Given the description of an element on the screen output the (x, y) to click on. 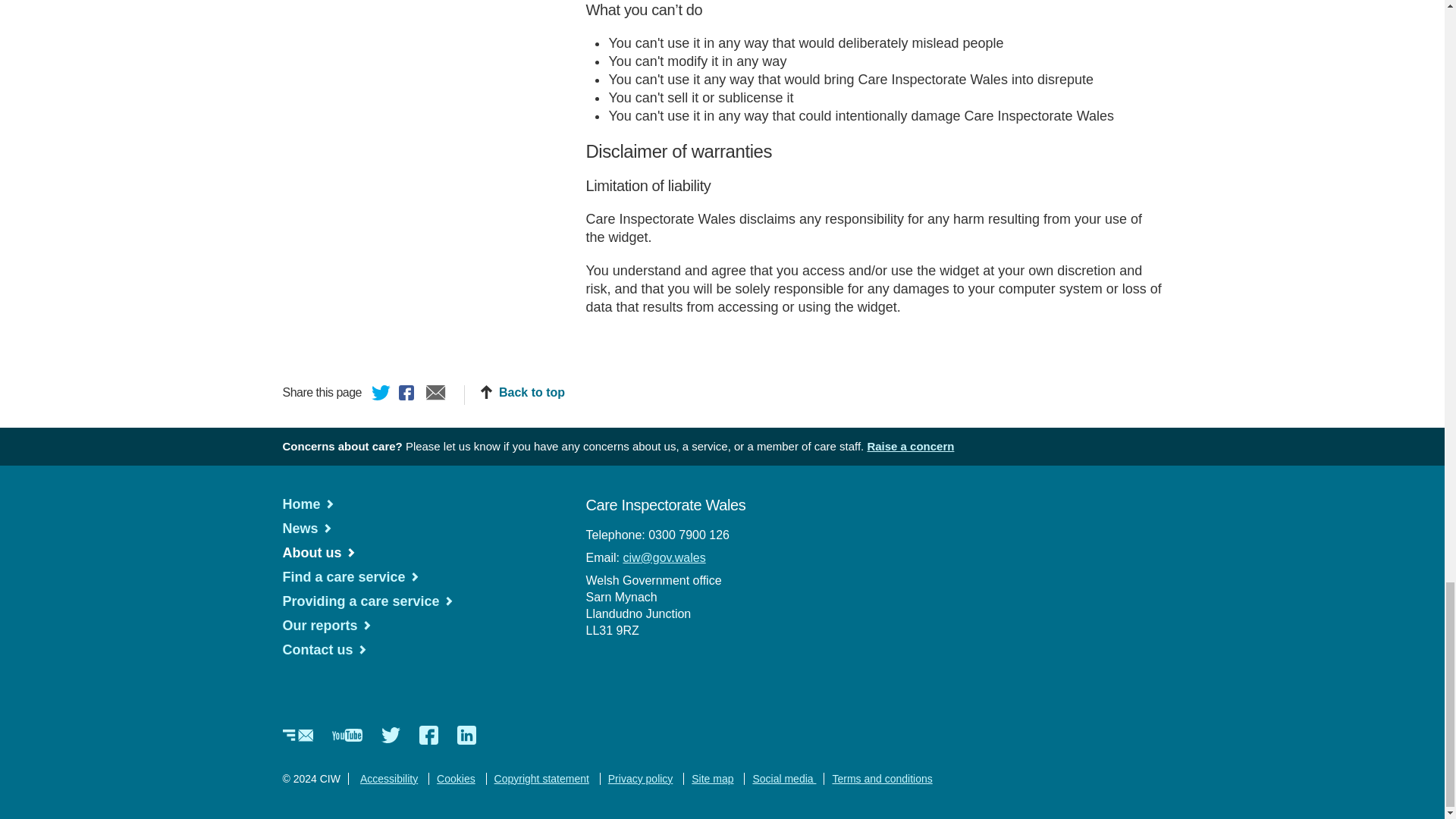
Twitter (381, 394)
Raising a concern about care services  (909, 445)
